Given the description of an element on the screen output the (x, y) to click on. 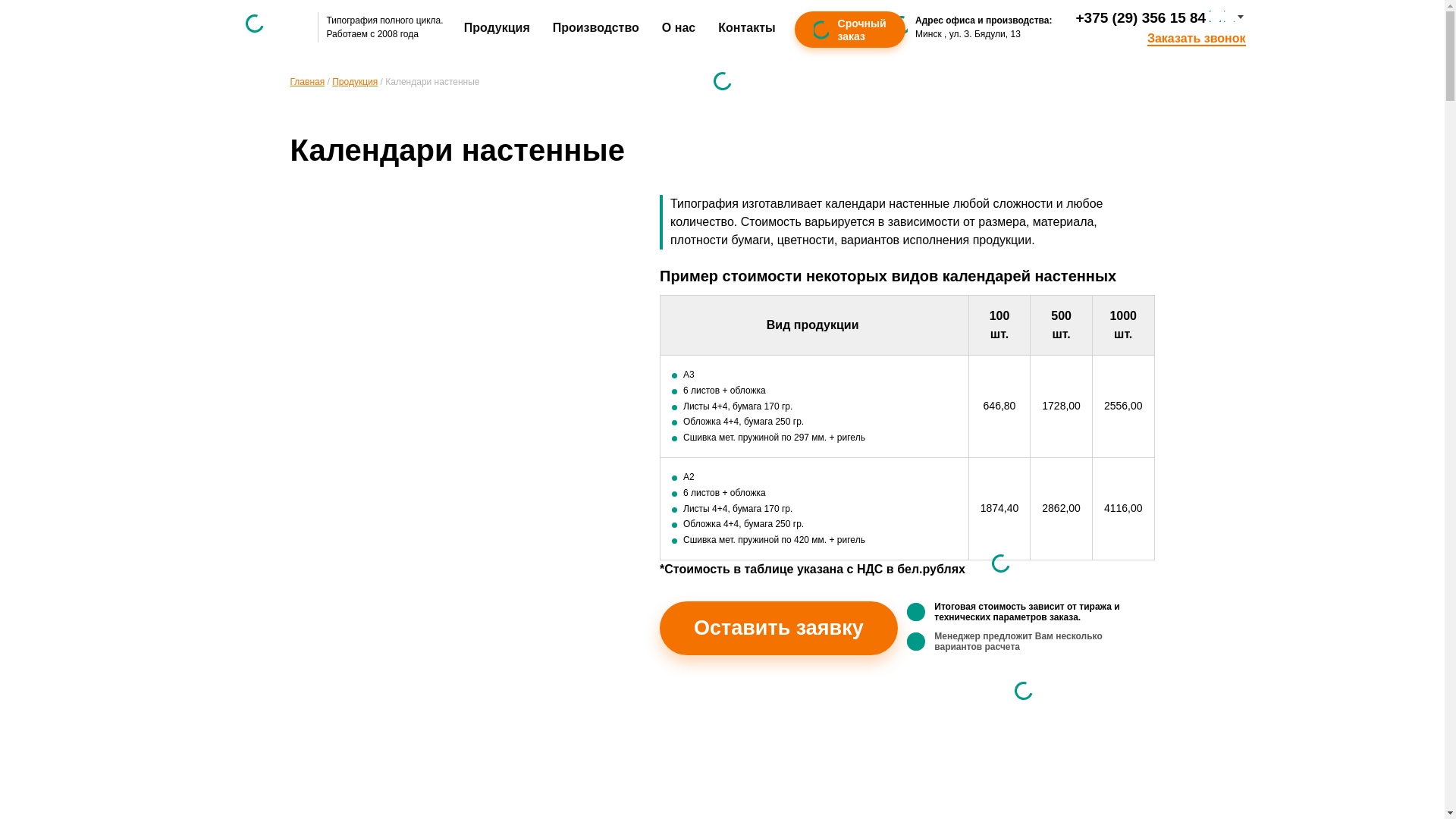
+375 (29) 356 15 84 Element type: text (1141, 17)
